Given the description of an element on the screen output the (x, y) to click on. 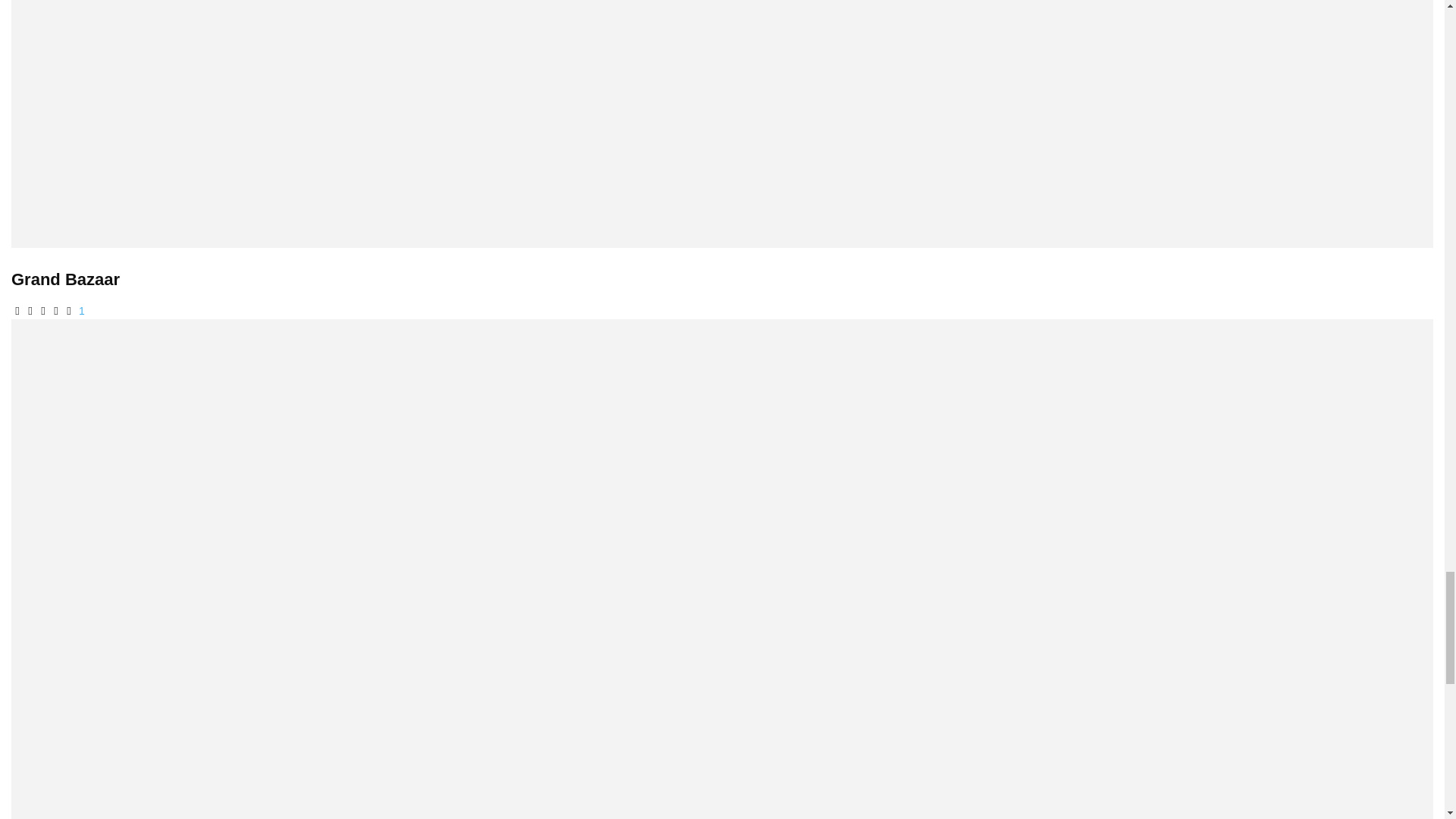
Grand Bazaar (65, 279)
